Given the description of an element on the screen output the (x, y) to click on. 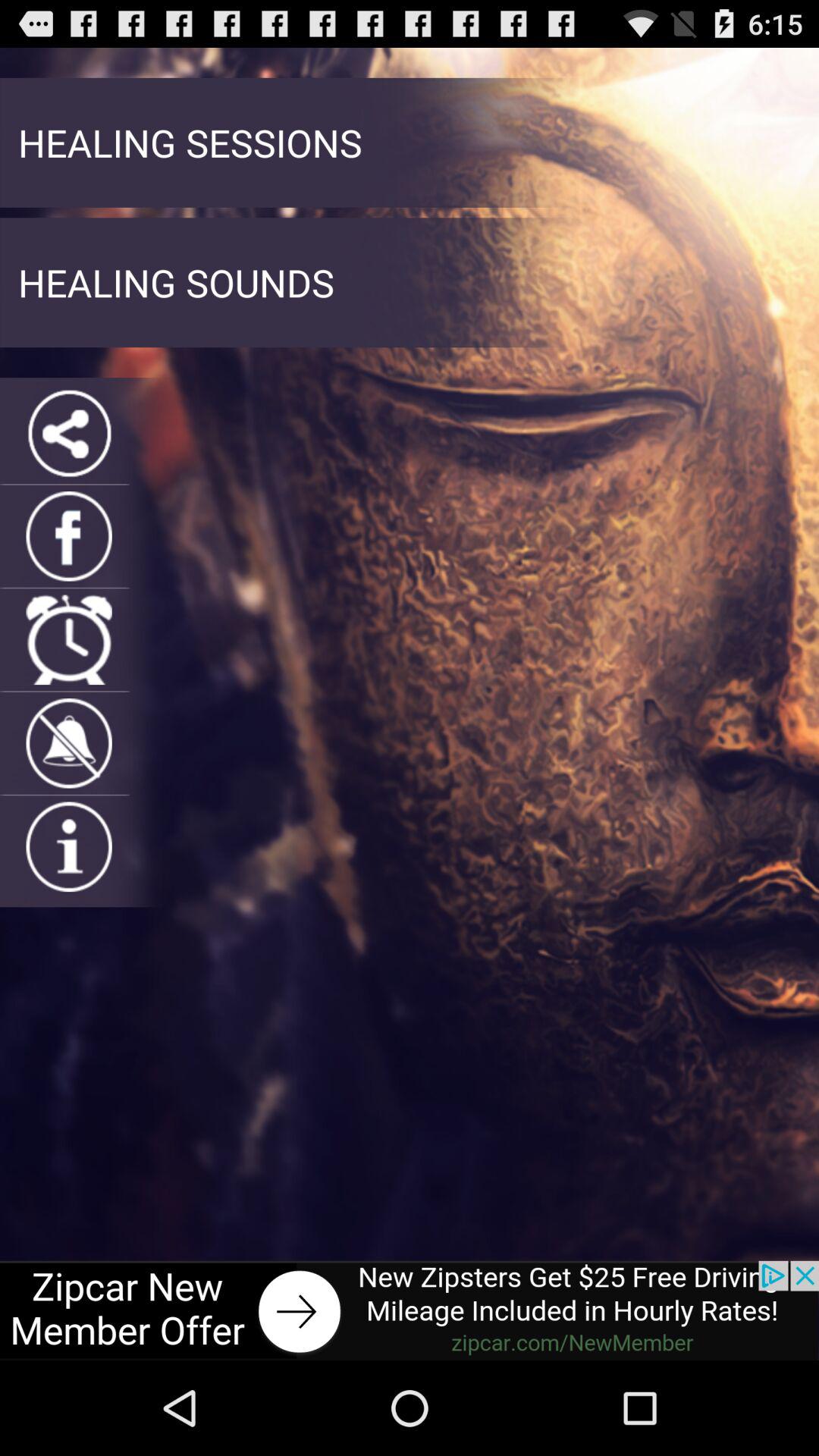
toggle alert option (69, 743)
